Given the description of an element on the screen output the (x, y) to click on. 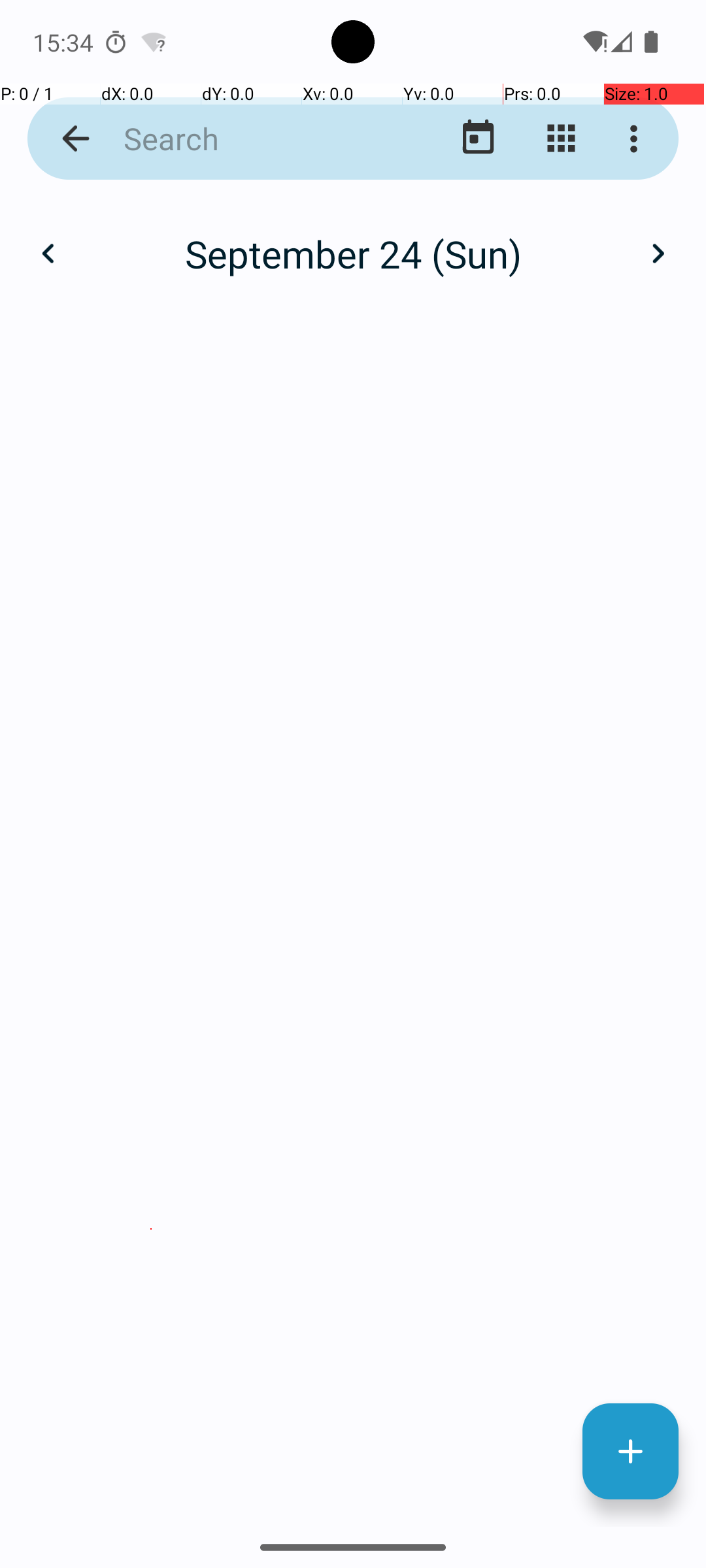
September 24 (Sun) Element type: android.widget.TextView (352, 253)
Android System notification: AndroidWifi has limited connectivity Element type: android.widget.ImageView (153, 41)
